Given the description of an element on the screen output the (x, y) to click on. 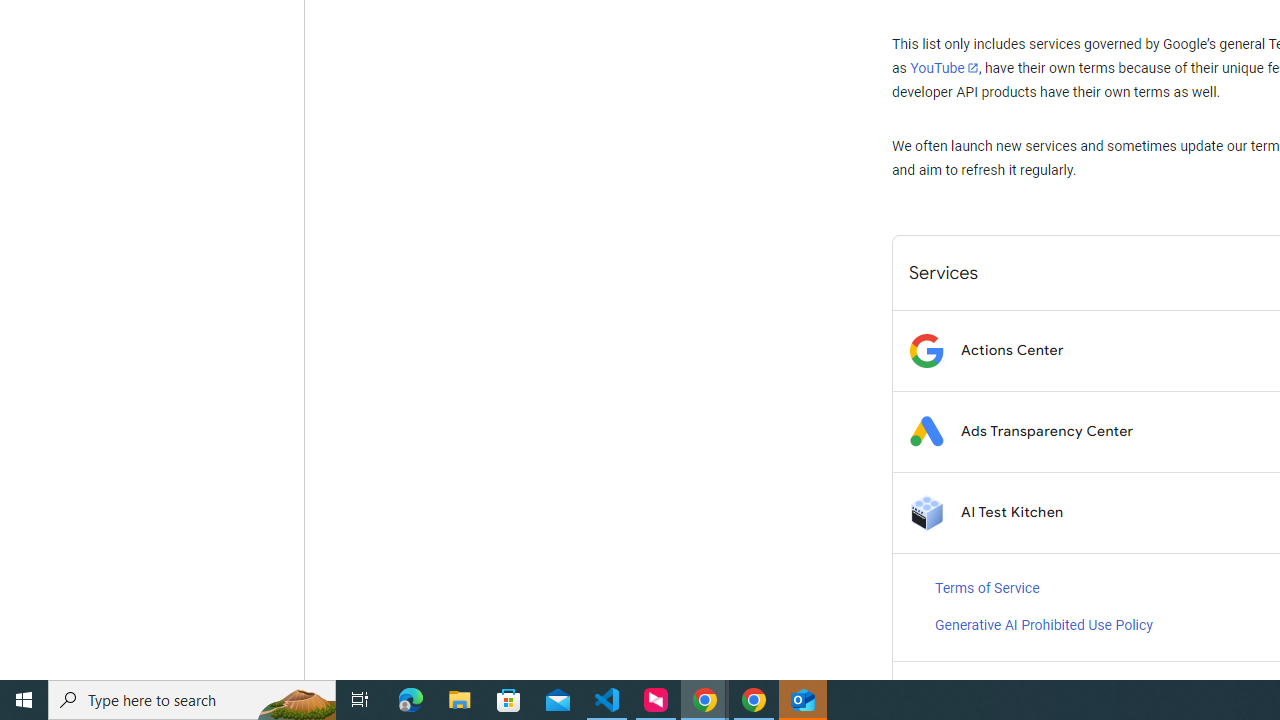
Logo for Ads Transparency Center (926, 431)
Logo for AI Test Kitchen (926, 512)
YouTube (944, 68)
Logo for Actions Center (926, 349)
Generative AI Prohibited Use Policy (1043, 626)
